Given the description of an element on the screen output the (x, y) to click on. 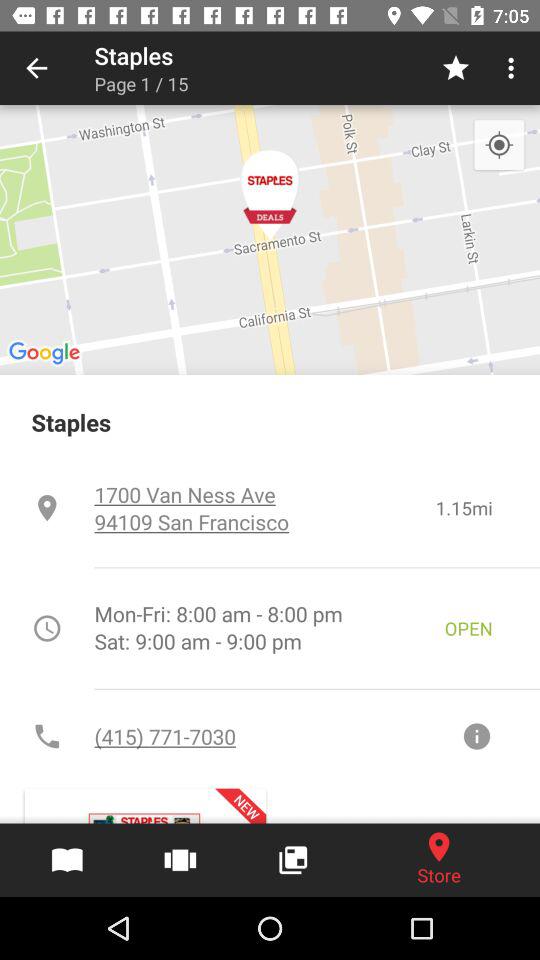
open the item below the staples (264, 508)
